Given the description of an element on the screen output the (x, y) to click on. 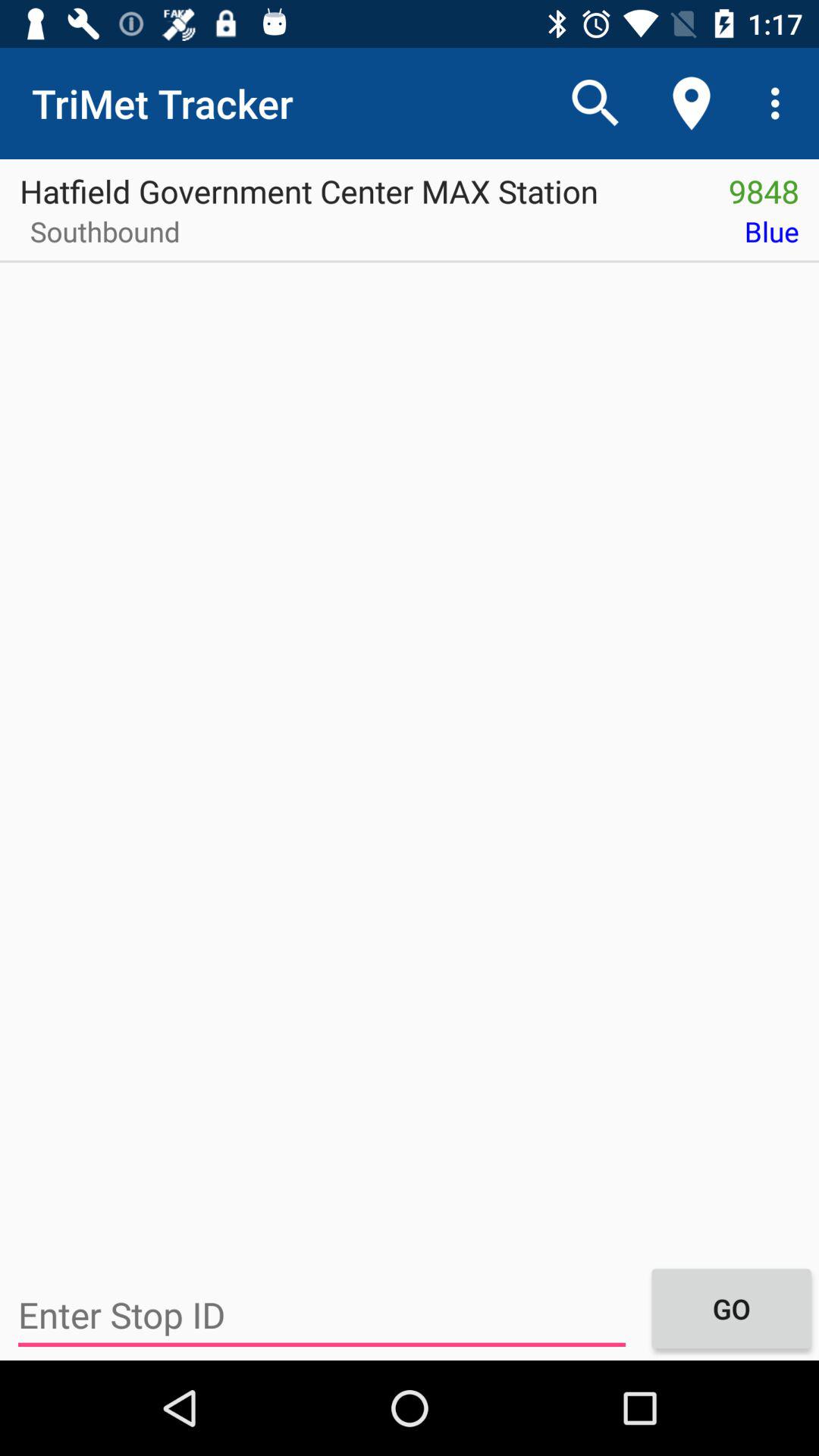
click the icon above southbound (354, 185)
